Given the description of an element on the screen output the (x, y) to click on. 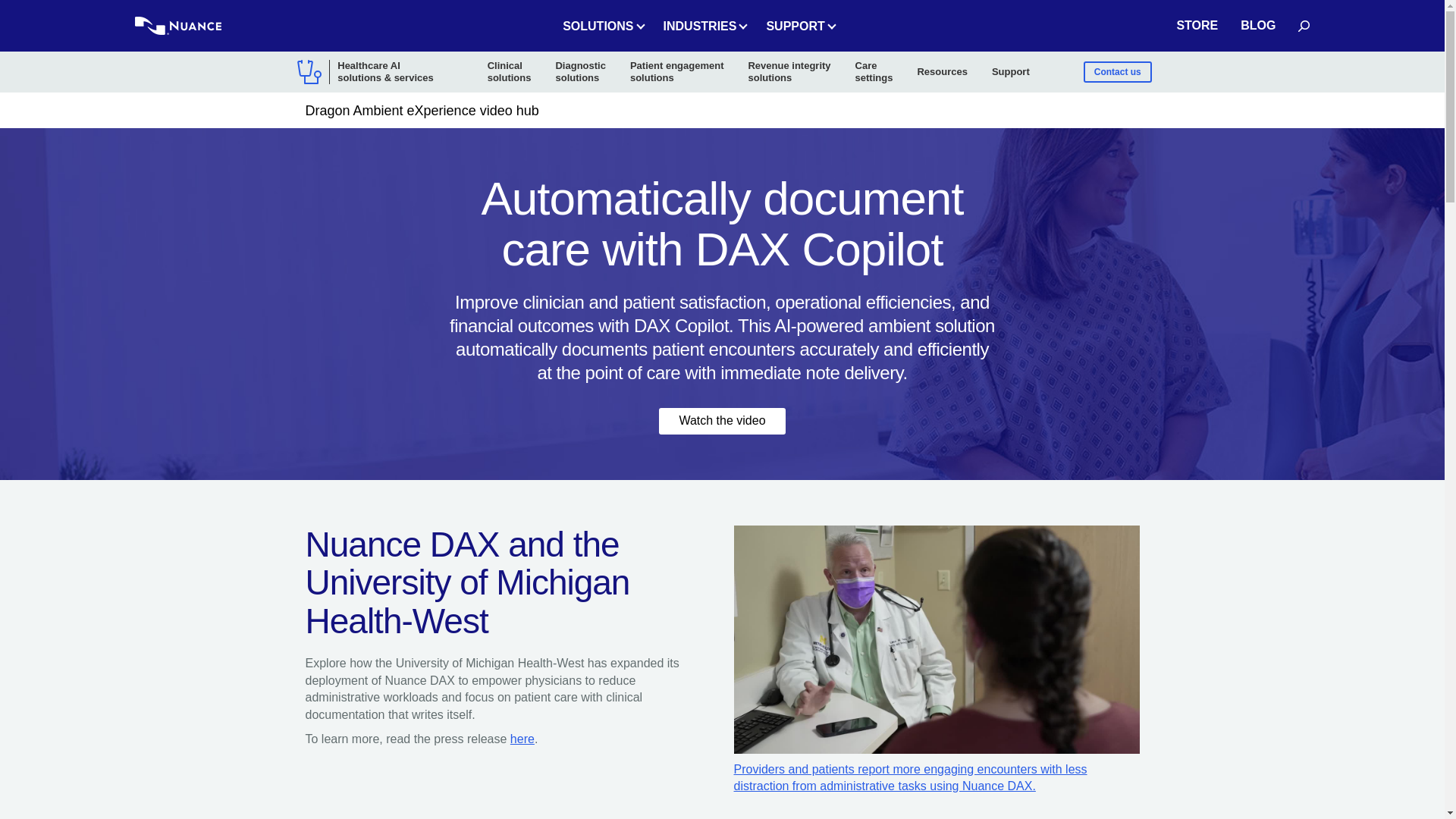
SOLUTIONS (600, 25)
SUPPORT (798, 25)
INDUSTRIES (702, 25)
